Given the description of an element on the screen output the (x, y) to click on. 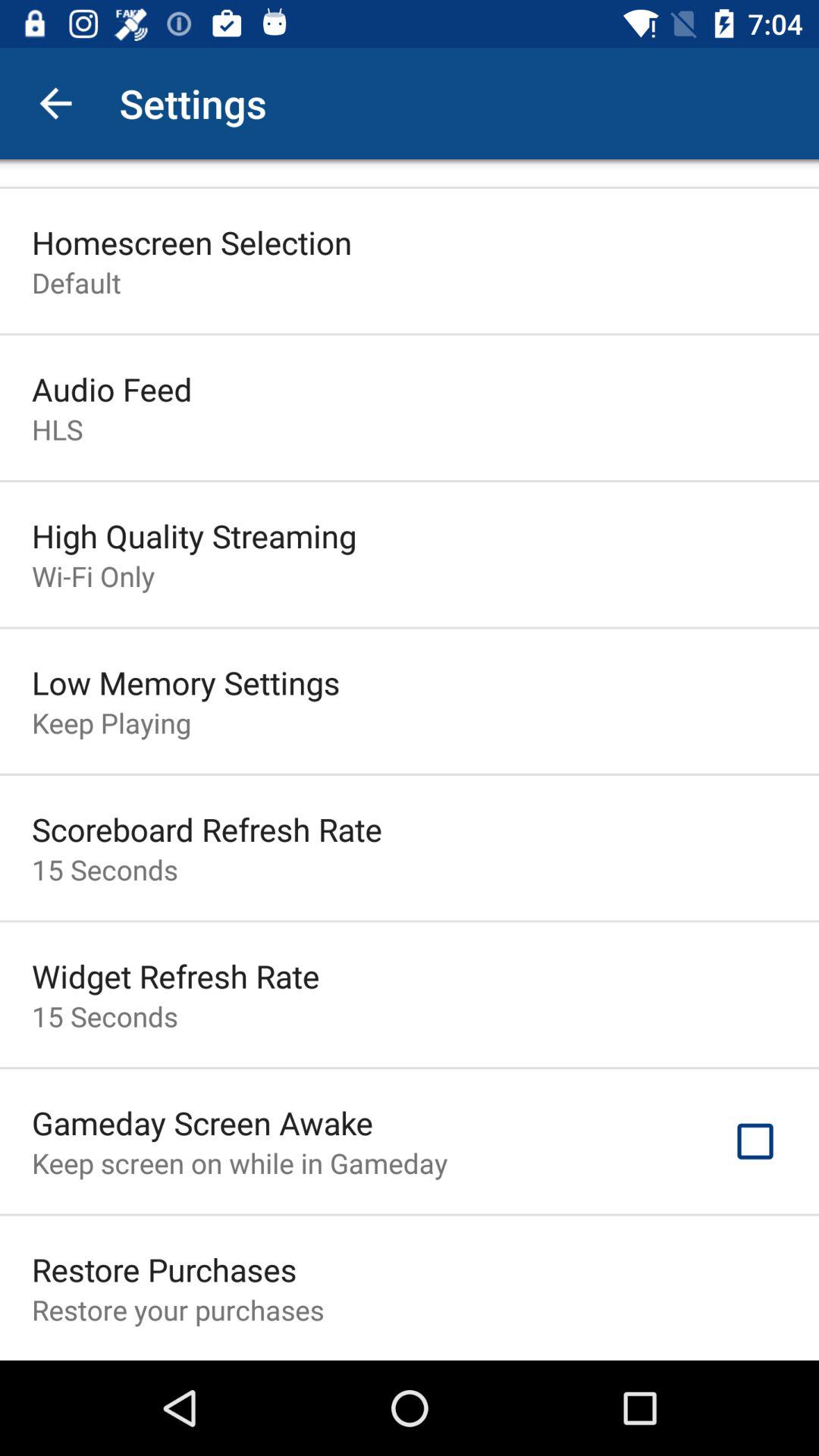
jump to the default icon (76, 282)
